Given the description of an element on the screen output the (x, y) to click on. 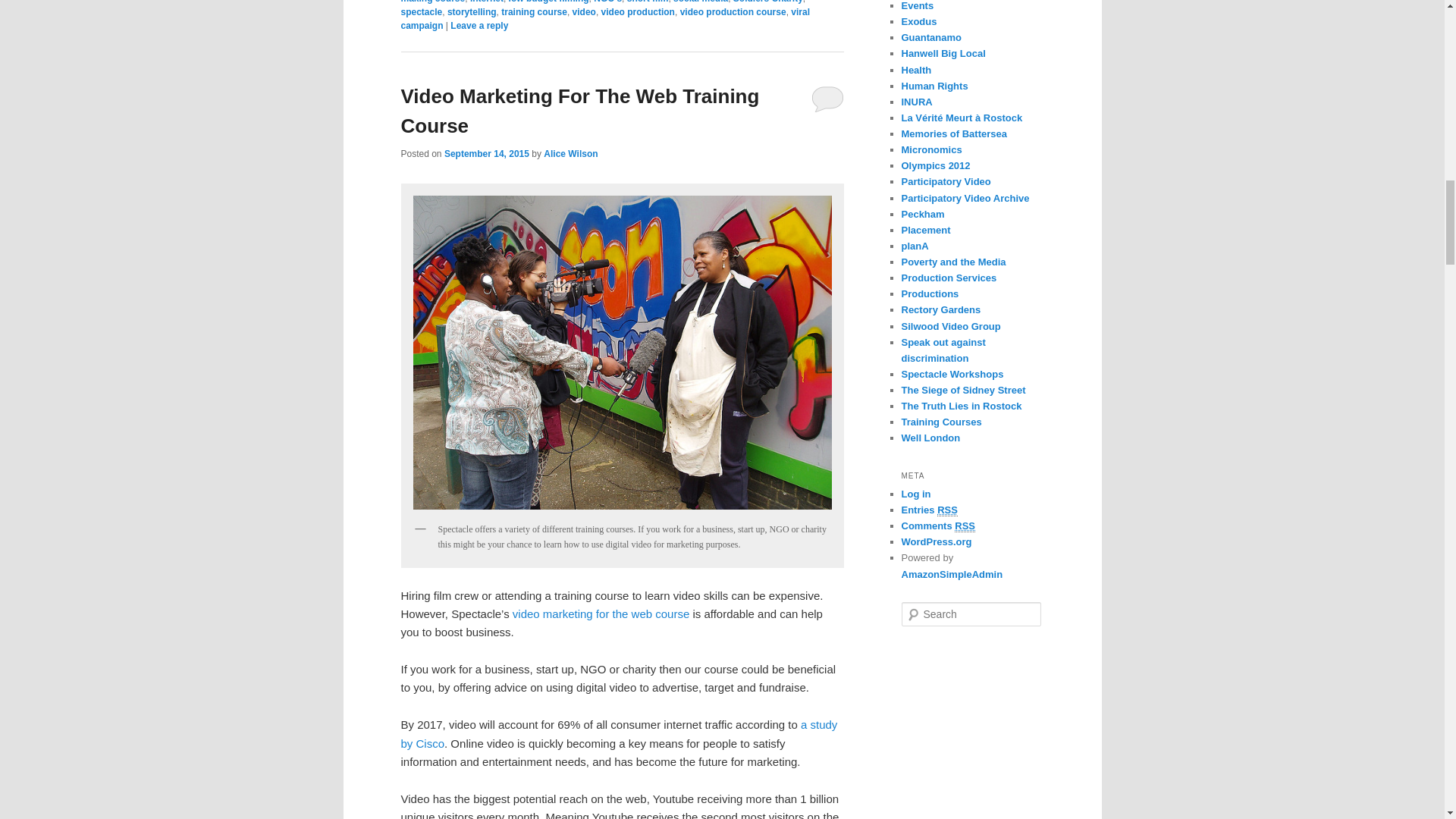
Soldiers Charity (768, 2)
NGO's (607, 2)
Internet (486, 2)
View all posts by Alice Wilson (569, 153)
storytelling (471, 11)
Current Productions (929, 293)
spectacle (421, 11)
training course (533, 11)
short film (647, 2)
